Given the description of an element on the screen output the (x, y) to click on. 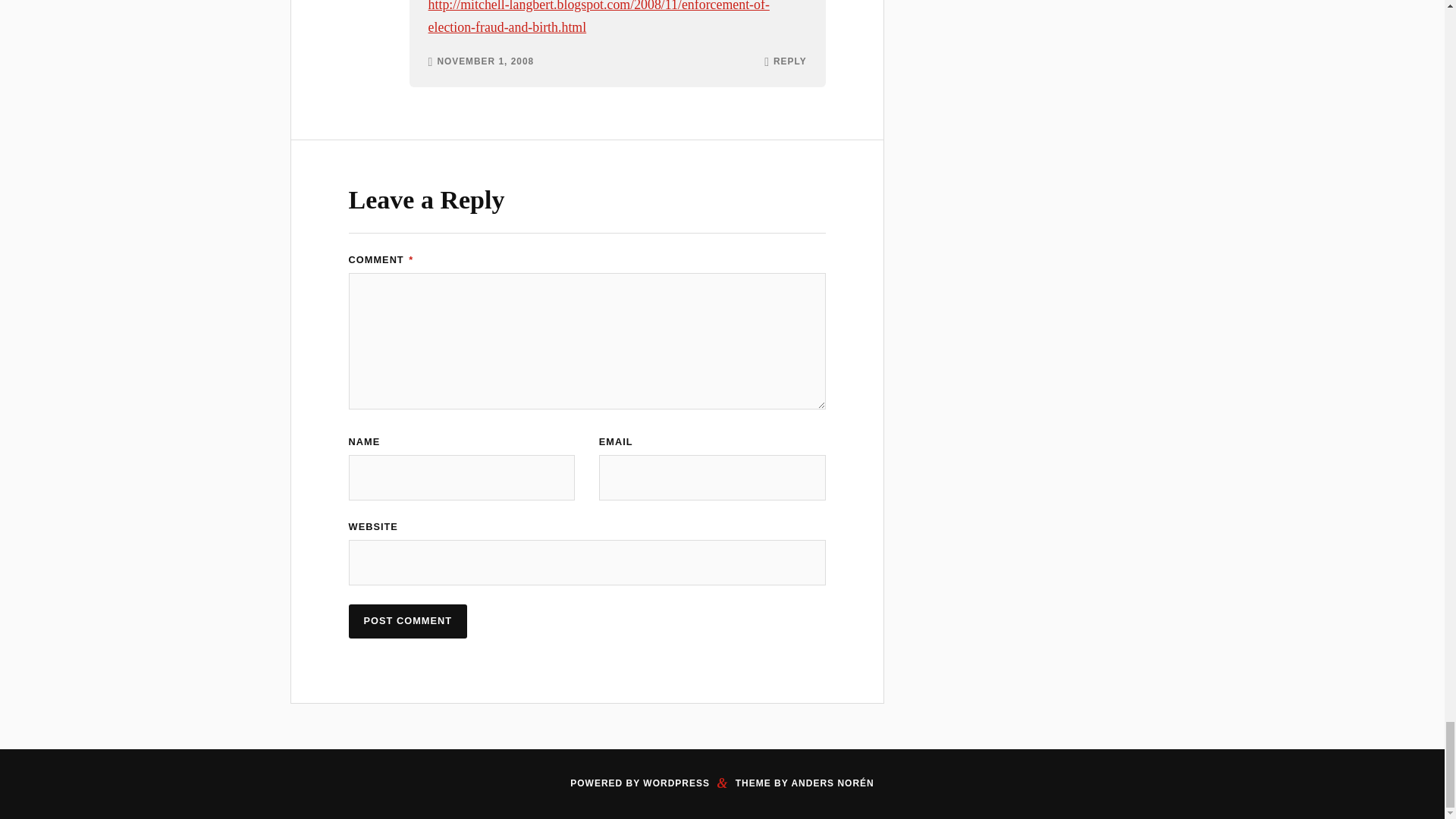
REPLY (789, 61)
NOVEMBER 1, 2008 (485, 61)
Post Comment (408, 621)
Post Comment (408, 621)
